Given the description of an element on the screen output the (x, y) to click on. 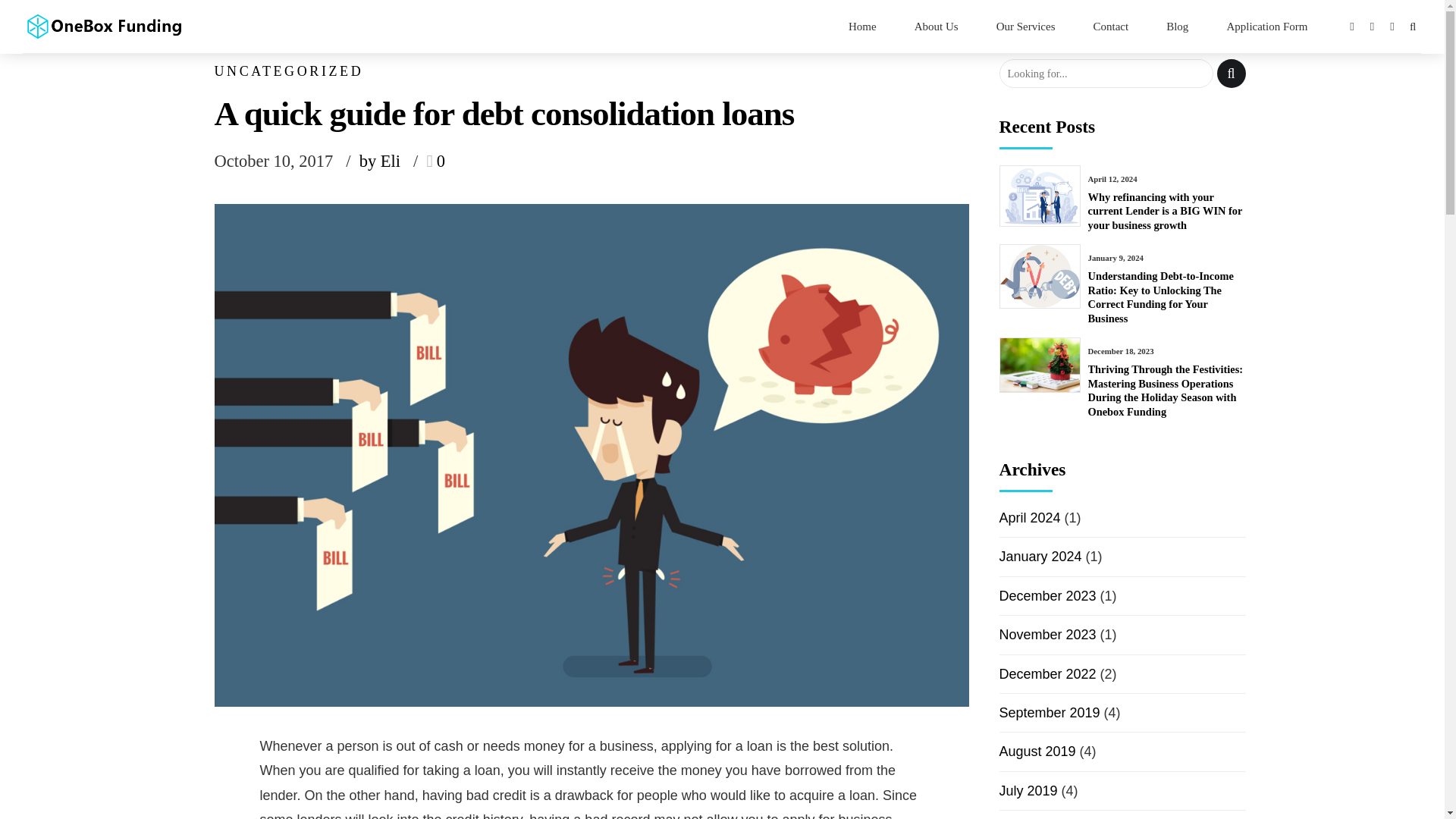
Our Services (1025, 26)
Application Form (1266, 26)
by Eli (392, 161)
UNCATEGORIZED (288, 70)
About Us (936, 26)
Contact (1111, 26)
